Given the description of an element on the screen output the (x, y) to click on. 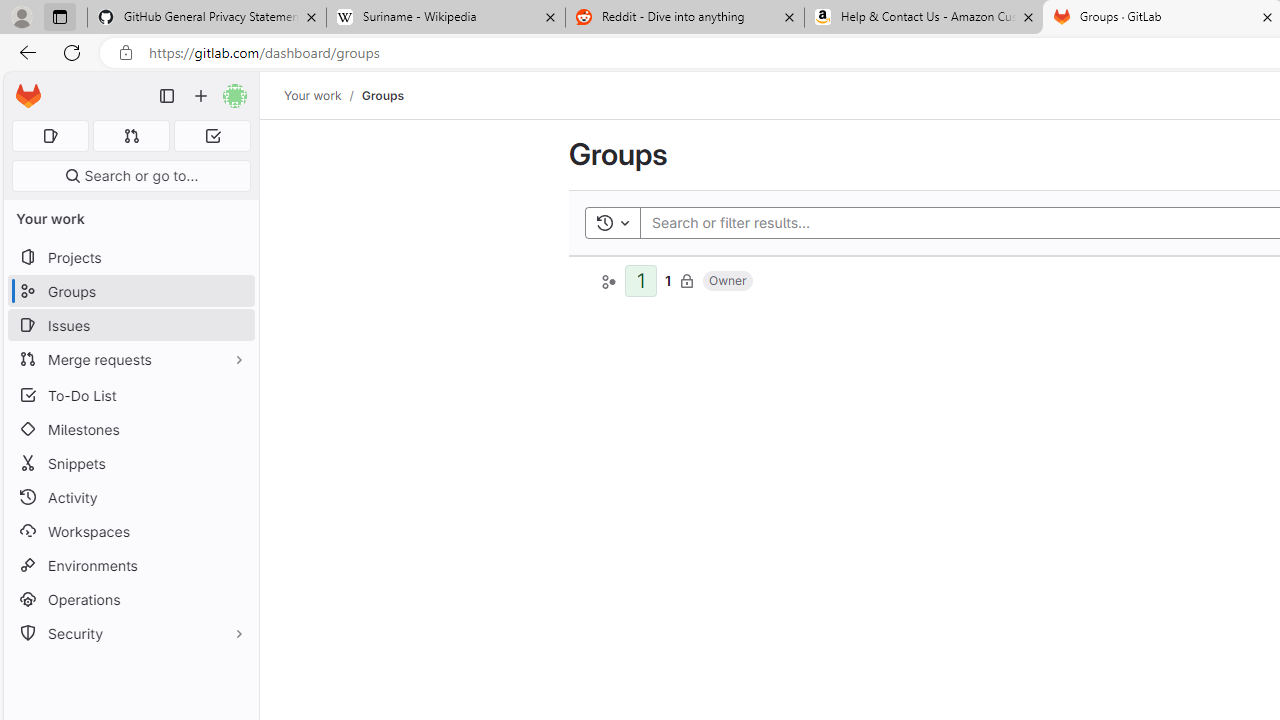
Operations (130, 599)
To-Do List (130, 394)
Primary navigation sidebar (167, 96)
To-Do List (130, 394)
Snippets (130, 463)
Groups (382, 95)
Your work (312, 95)
Toggle history (612, 222)
GitHub General Privacy Statement - GitHub Docs (207, 17)
Create new... (201, 96)
Snippets (130, 463)
Your work/ (323, 95)
